Given the description of an element on the screen output the (x, y) to click on. 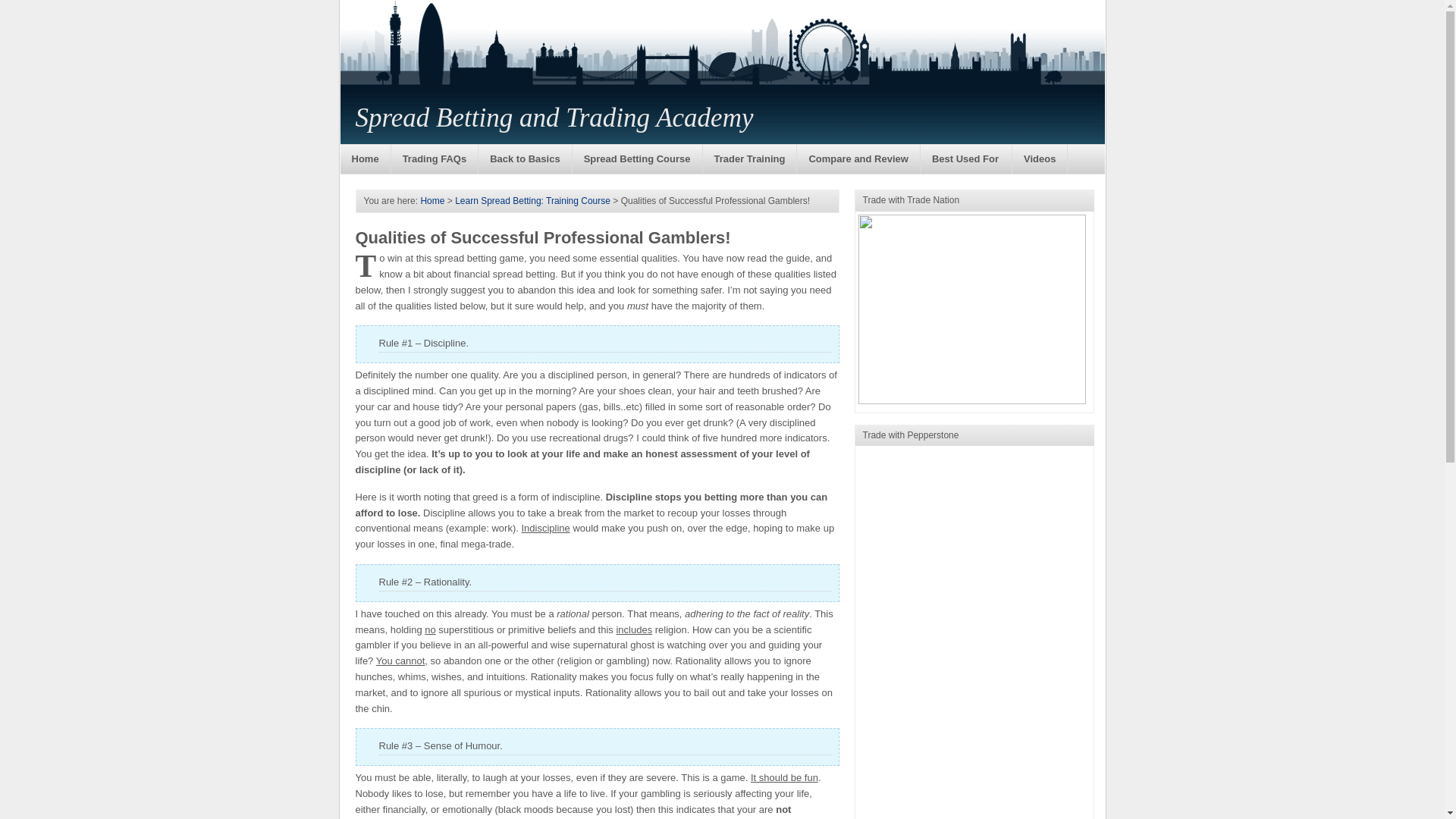
Compare Spread Betting Providers (858, 158)
Spread Betting Course (637, 158)
Home (364, 158)
Technical Analysis Course (748, 158)
Compare and Review (858, 158)
View Learn Spread Betting: Training Course (532, 200)
Best Used For (965, 158)
Home (432, 200)
Trading Educational Videos (1039, 158)
View Home (432, 200)
